Given the description of an element on the screen output the (x, y) to click on. 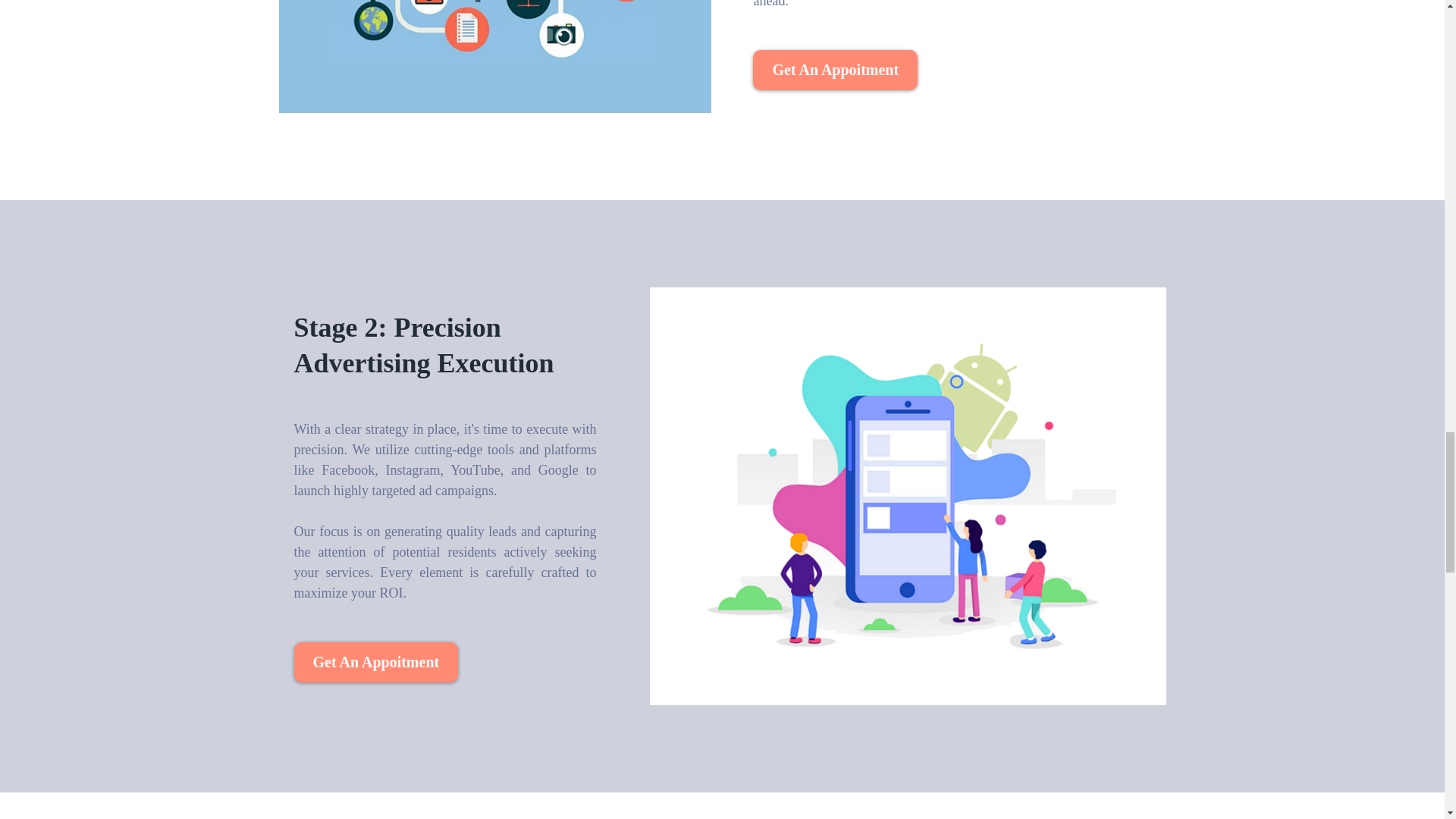
Get An Appoitment (376, 662)
Get An Appoitment (834, 69)
